Given the description of an element on the screen output the (x, y) to click on. 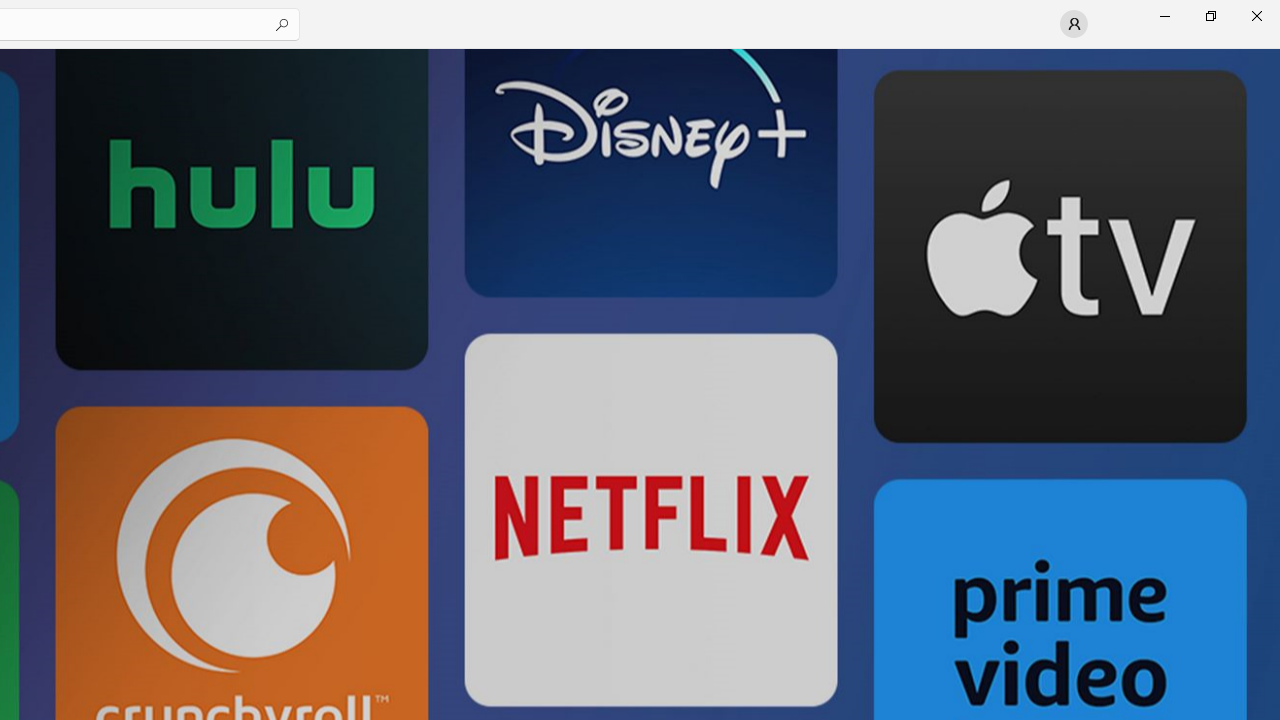
User profile (1073, 24)
Minimize Microsoft Store (1164, 15)
Close Microsoft Store (1256, 15)
Restore Microsoft Store (1210, 15)
